Given the description of an element on the screen output the (x, y) to click on. 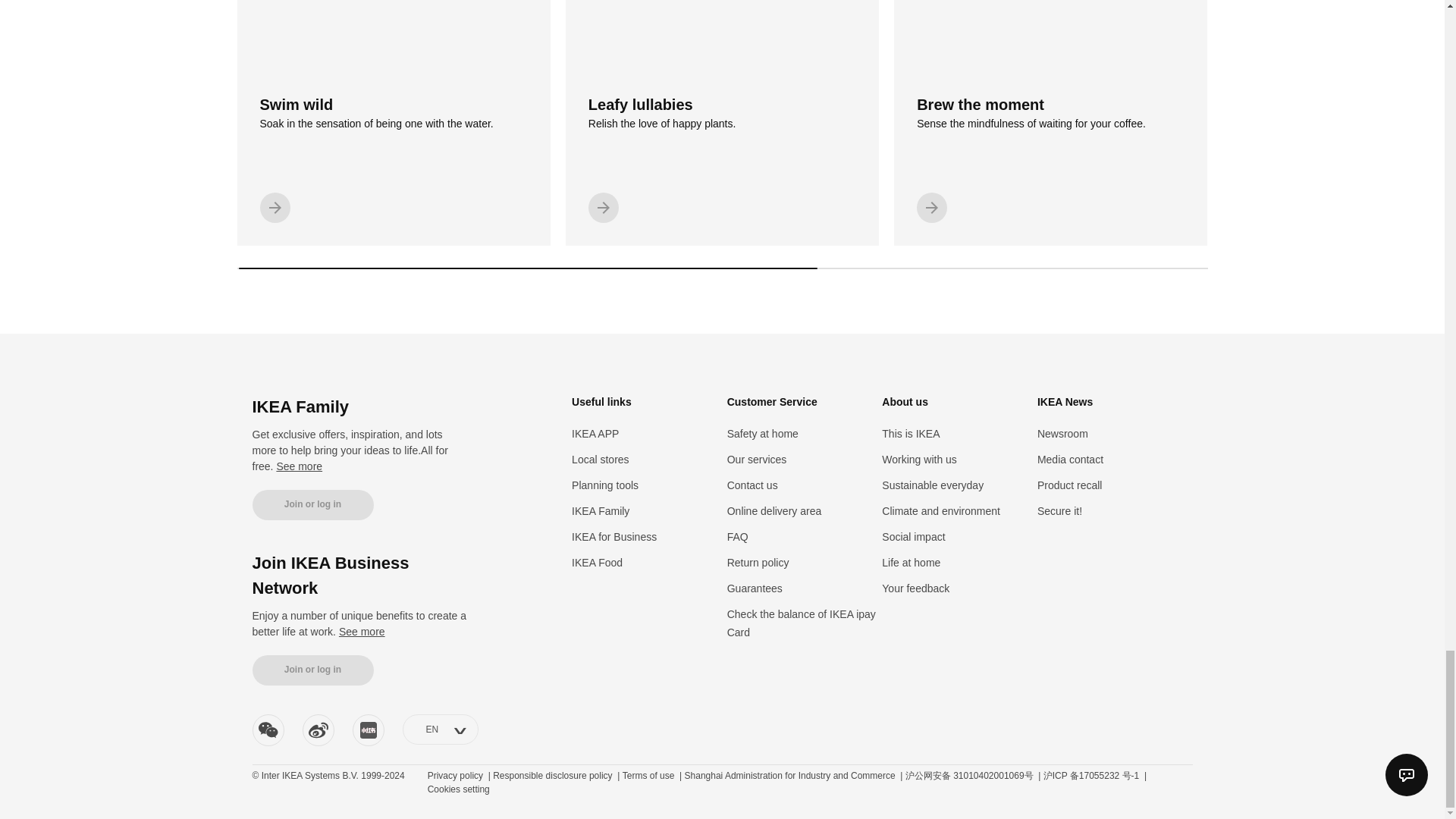
Join or log in (722, 122)
Sustainable everyday (311, 670)
Check the balance of IKEA ipay Card (933, 485)
See more (392, 122)
Our services (801, 623)
This is IKEA (298, 466)
